Given the description of an element on the screen output the (x, y) to click on. 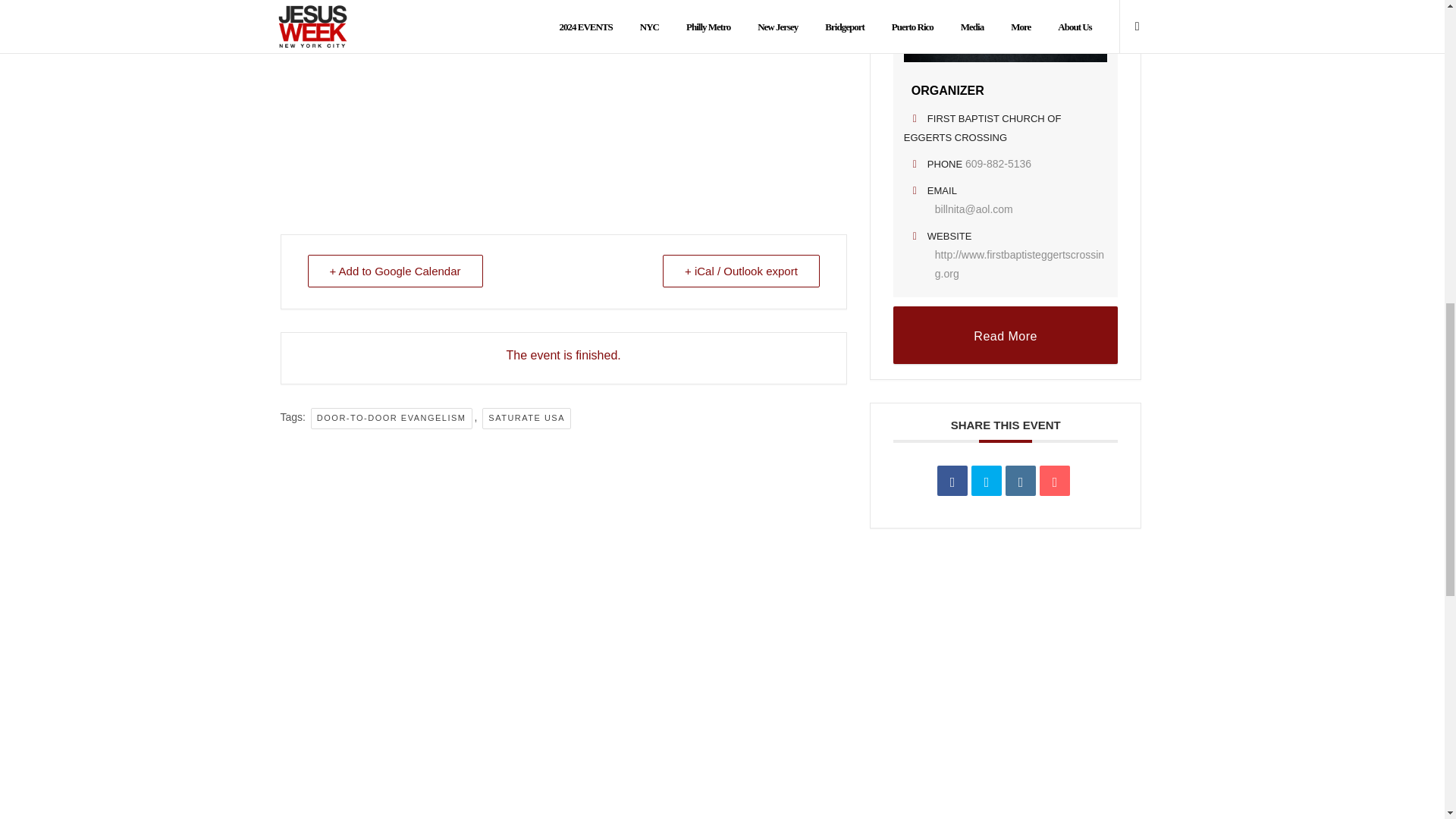
Email (1054, 481)
Tweet (986, 481)
Saturate USA - Short Promo (564, 90)
Linkedin (1020, 481)
Share on Facebook (952, 481)
